Given the description of an element on the screen output the (x, y) to click on. 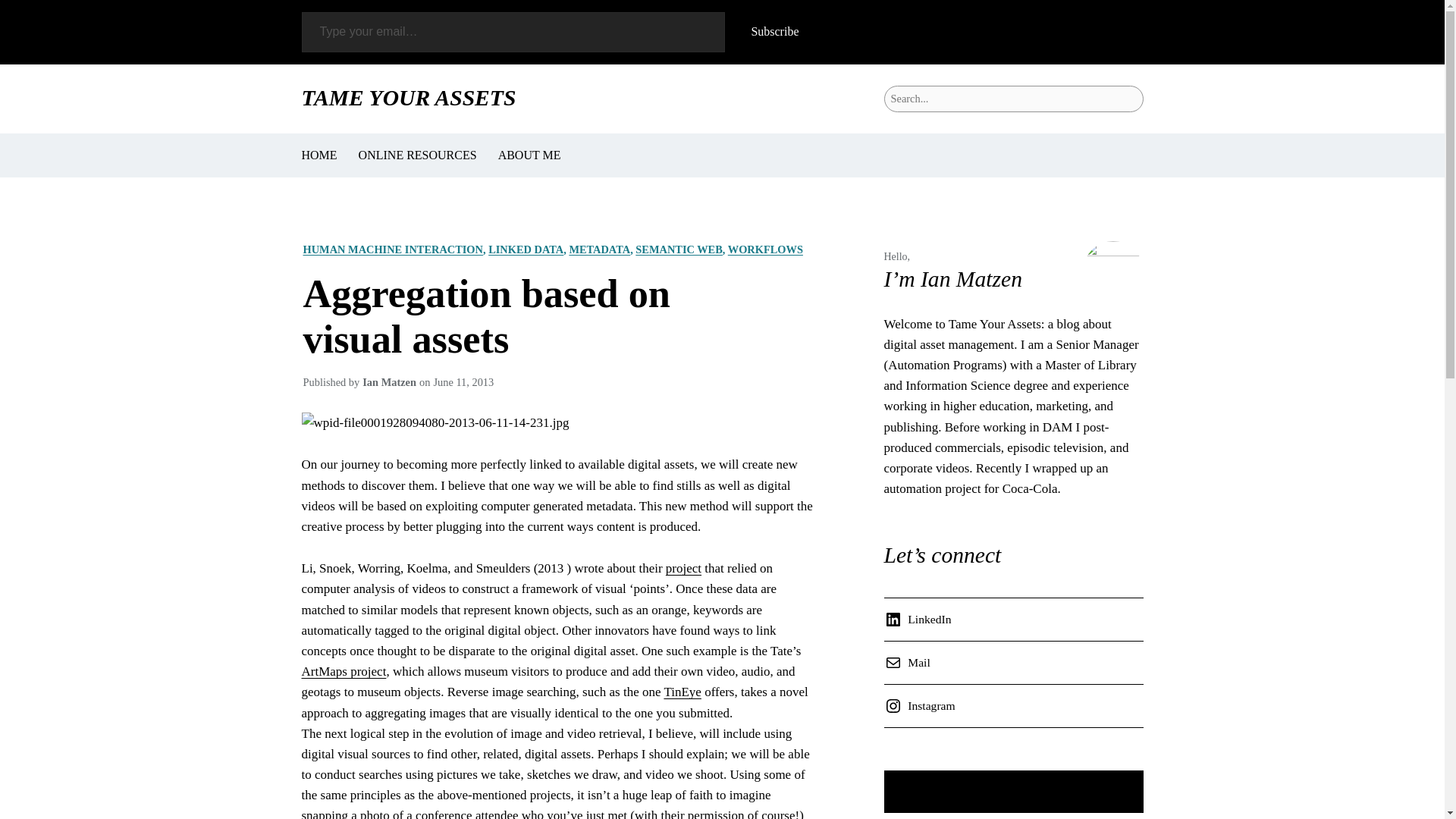
TAME YOUR ASSETS (408, 97)
Aggregation based on visual assets (560, 316)
METADATA (599, 249)
HUMAN MACHINE INTERACTION (392, 249)
HOME (319, 155)
WORKFLOWS (765, 249)
June 11, 2013 (462, 381)
ABOUT ME (528, 155)
ONLINE RESOURCES (417, 155)
LinkedIn (920, 619)
